Given the description of an element on the screen output the (x, y) to click on. 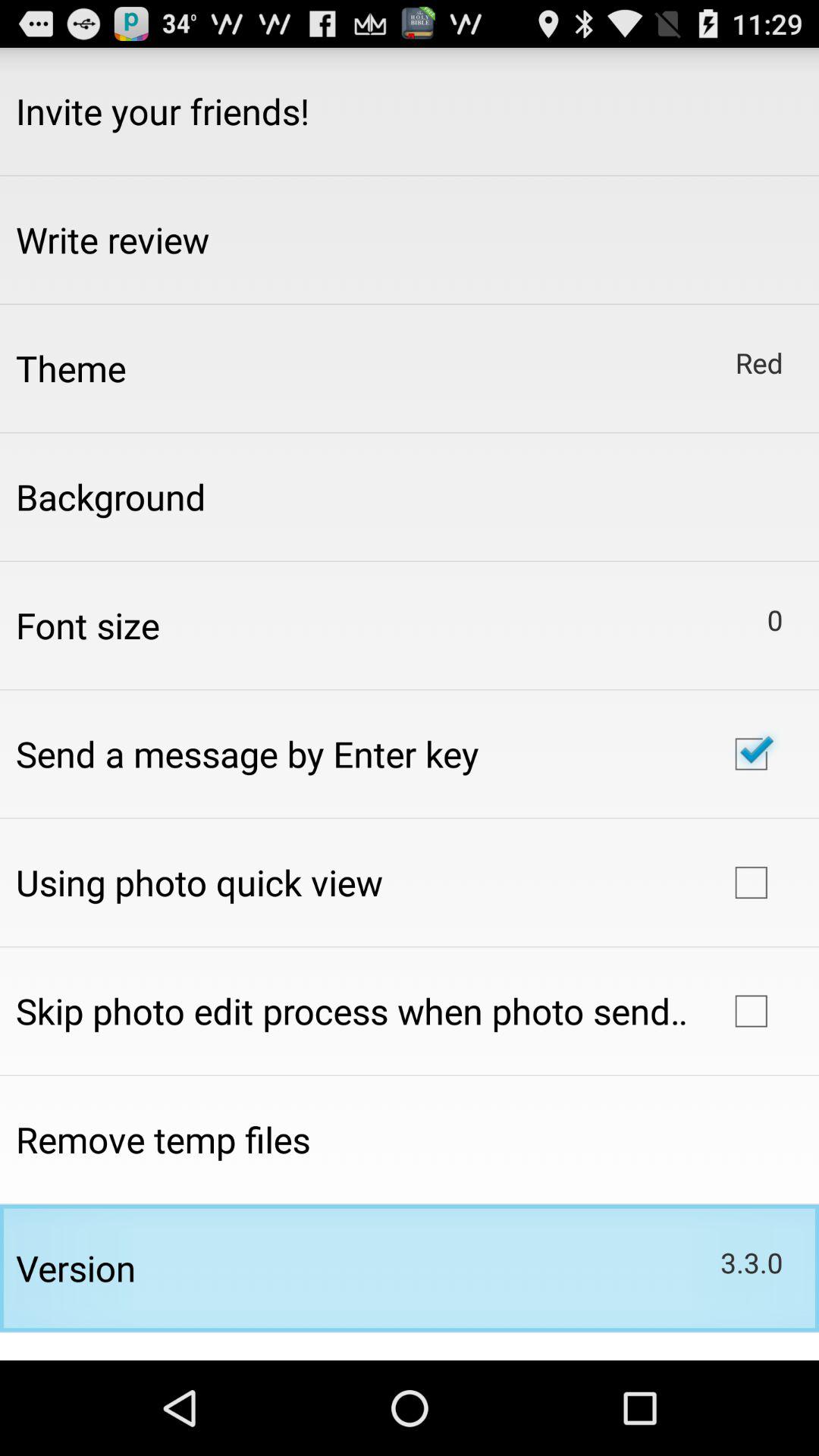
turn off the item below the background (87, 625)
